Given the description of an element on the screen output the (x, y) to click on. 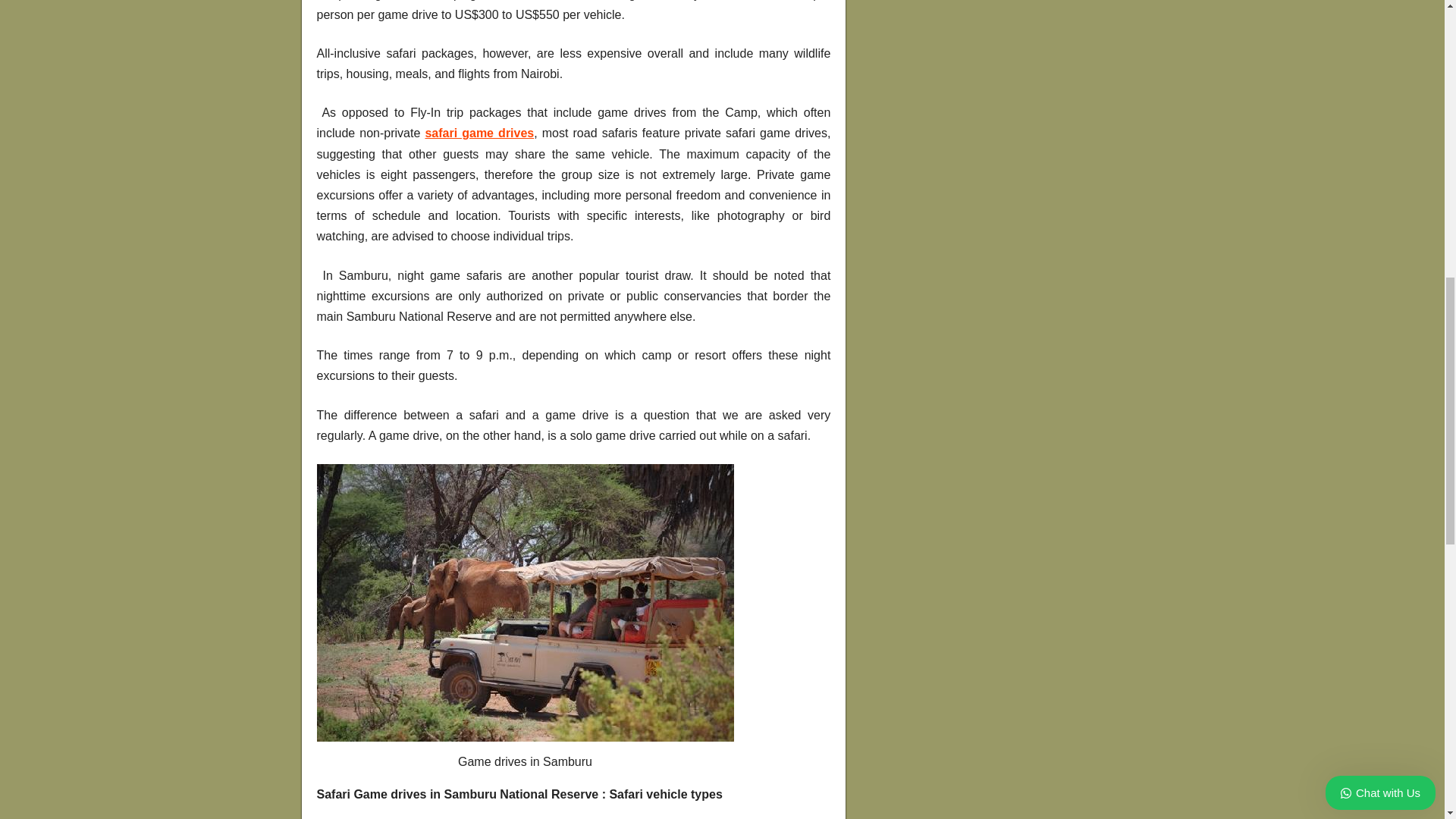
safari game drives (479, 132)
